Given the description of an element on the screen output the (x, y) to click on. 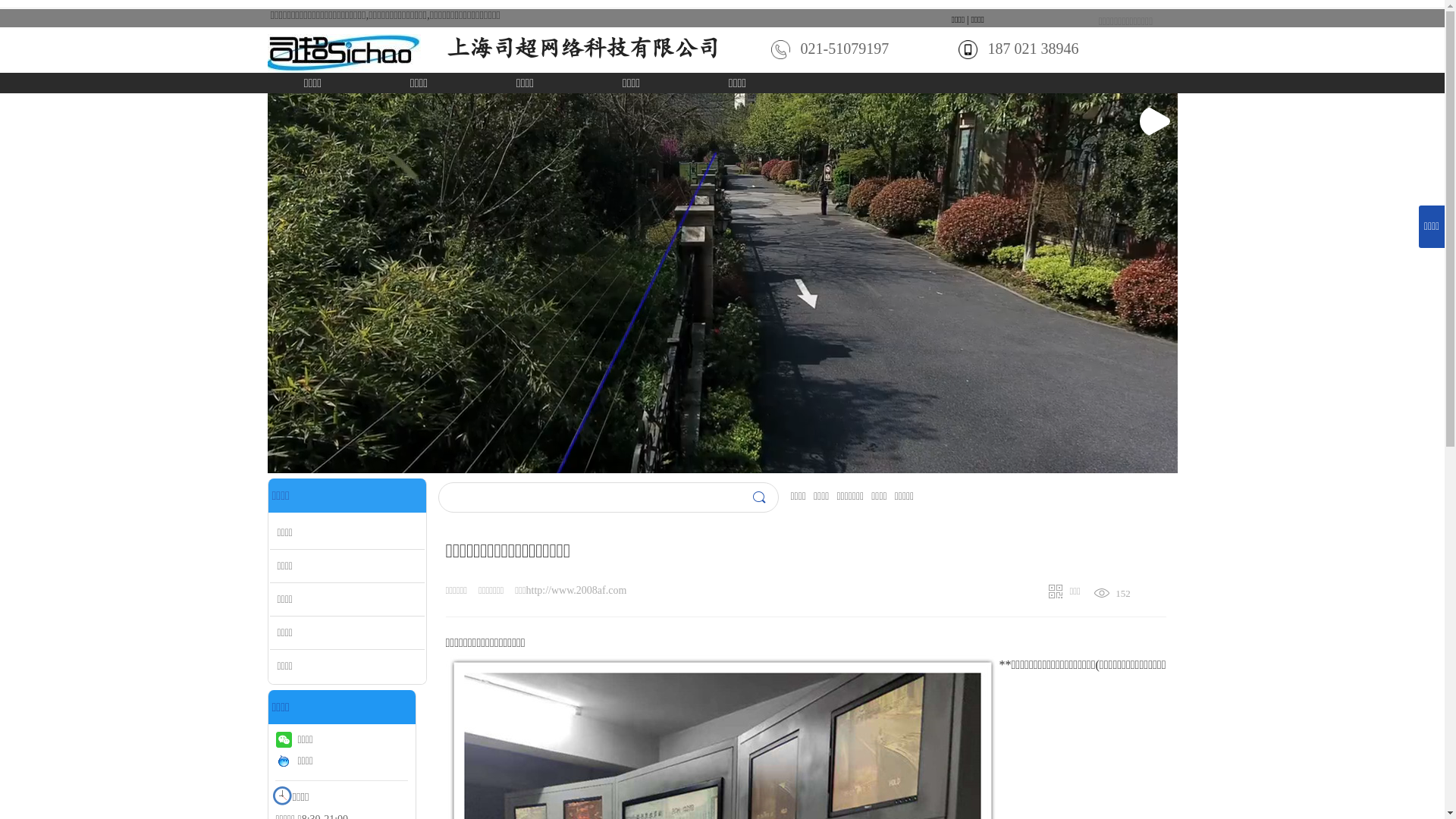
http://www.2008af.com Element type: text (576, 590)
